Given the description of an element on the screen output the (x, y) to click on. 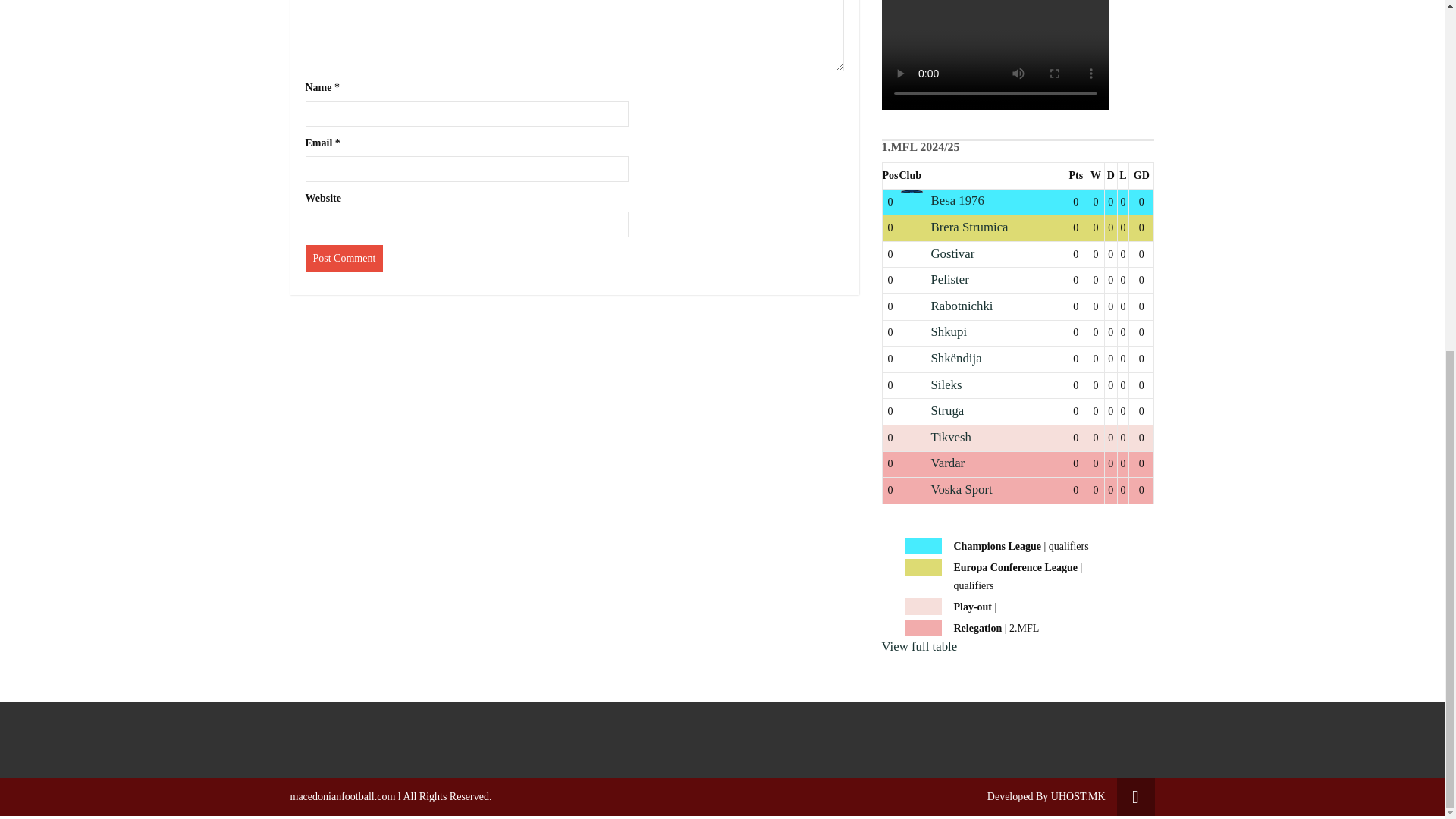
Post Comment (343, 257)
